Given the description of an element on the screen output the (x, y) to click on. 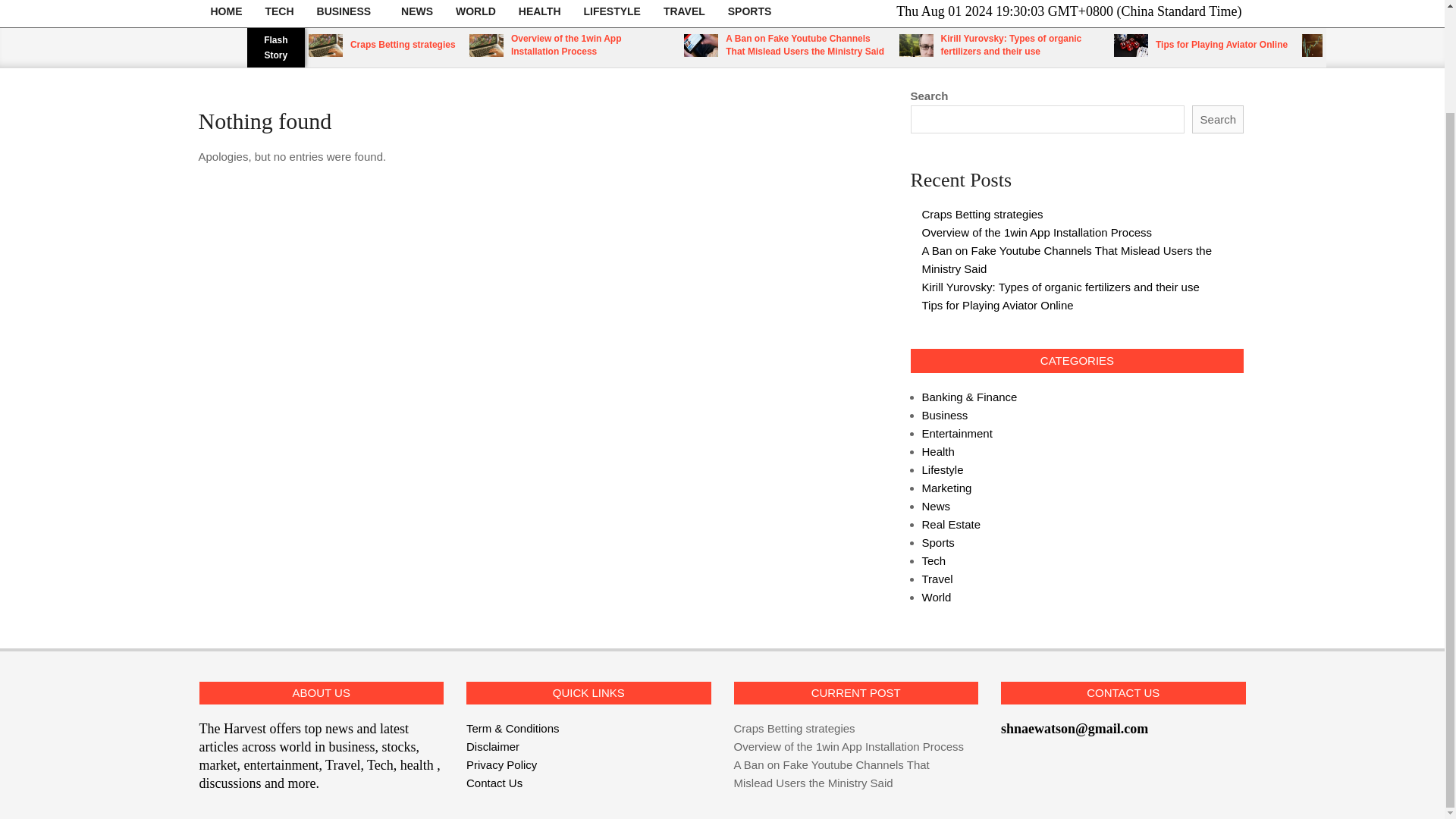
HOME (225, 13)
HEALTH (539, 13)
BUSINESS (347, 13)
Craps Betting strategies (402, 44)
Kirill Yurovsky: Types of organic fertilizers and their use (1010, 44)
LIFESTYLE (612, 13)
Overview of the 1win App Installation Process (566, 44)
SPORTS (749, 13)
NEWS (417, 13)
Tips for Playing Aviator Online (1221, 44)
TECH (278, 13)
Search (1217, 119)
Craps Betting strategies (982, 214)
